Given the description of an element on the screen output the (x, y) to click on. 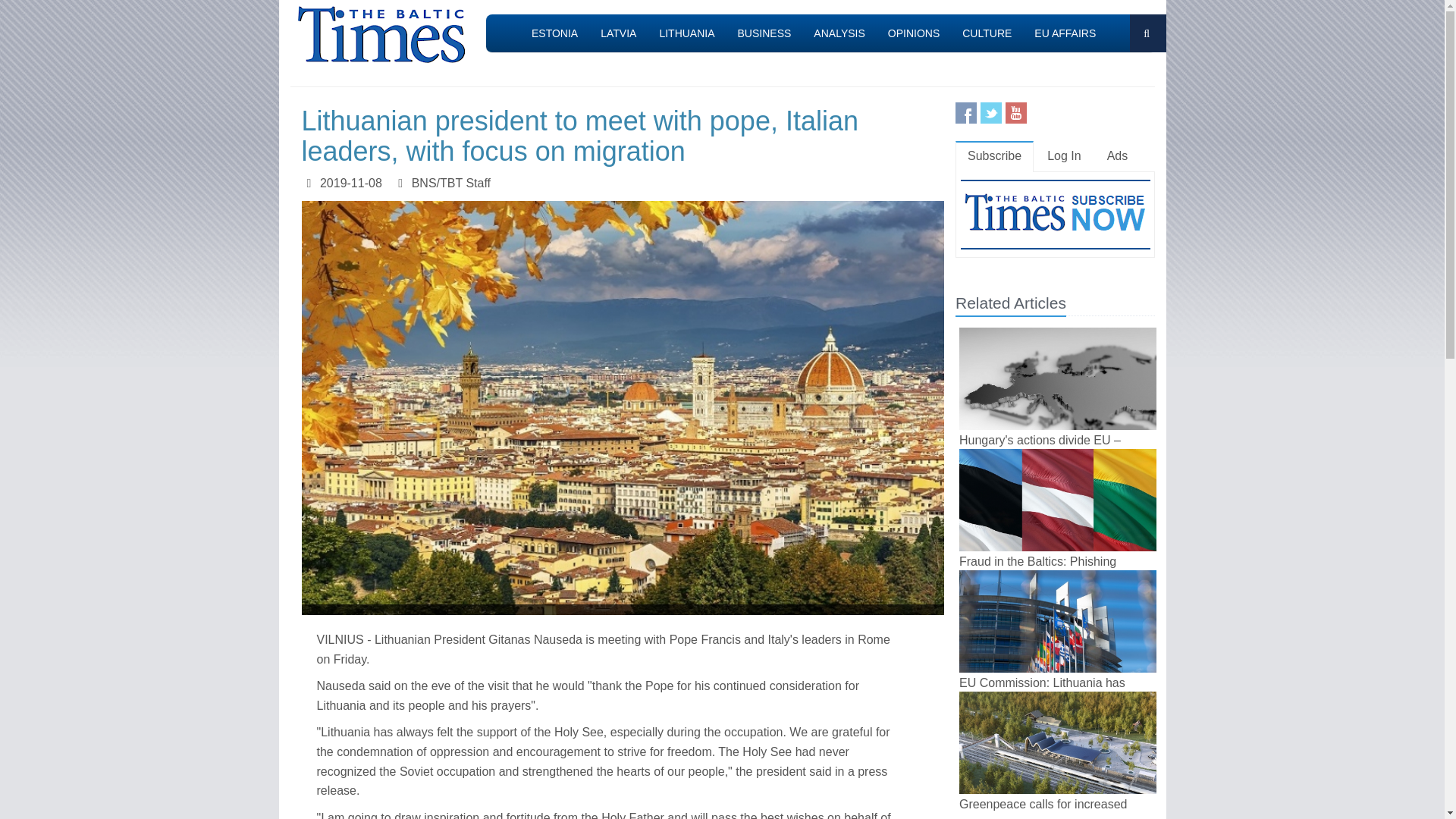
OPINIONS (913, 33)
ESTONIA (554, 33)
BUSINESS (764, 33)
ANALYSIS (839, 33)
LITHUANIA (686, 33)
LATVIA (618, 33)
CULTURE (986, 33)
Subscribe (994, 155)
